Given the description of an element on the screen output the (x, y) to click on. 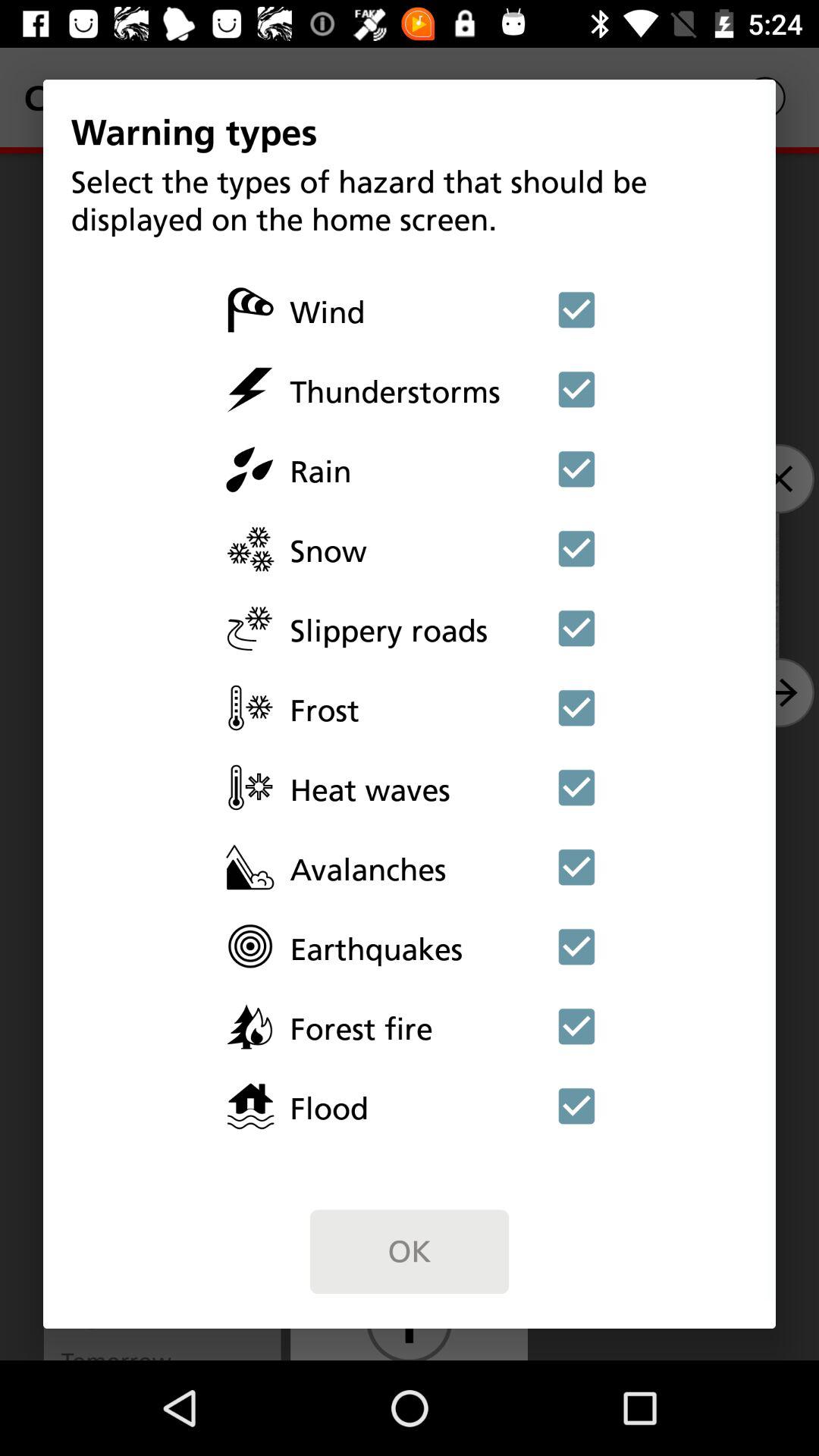
choose (576, 628)
